Given the description of an element on the screen output the (x, y) to click on. 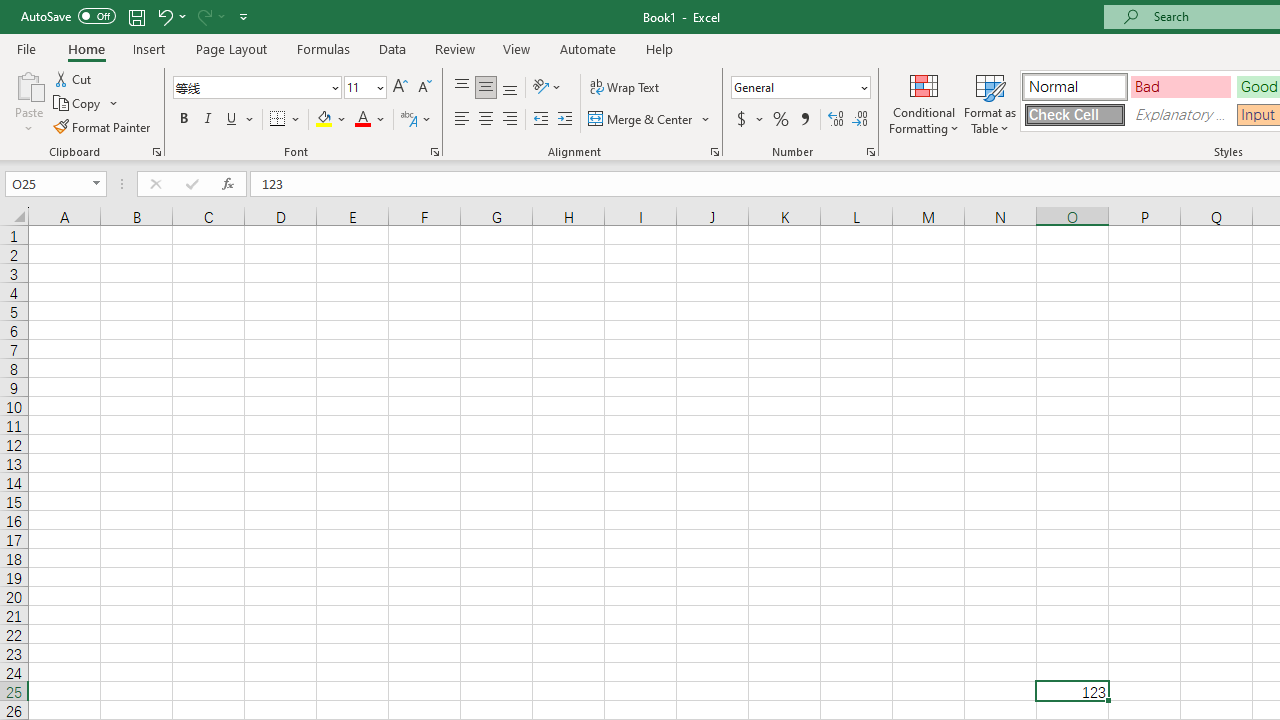
Merge & Center (641, 119)
Top Align (461, 87)
Align Left (461, 119)
Wrap Text (624, 87)
Bottom Border (278, 119)
Explanatory Text (1180, 114)
Font Color (370, 119)
Center (485, 119)
Increase Decimal (836, 119)
Paste (28, 84)
Merge & Center (649, 119)
Align Right (509, 119)
Number Format (794, 87)
Middle Align (485, 87)
Office Clipboard... (156, 151)
